Given the description of an element on the screen output the (x, y) to click on. 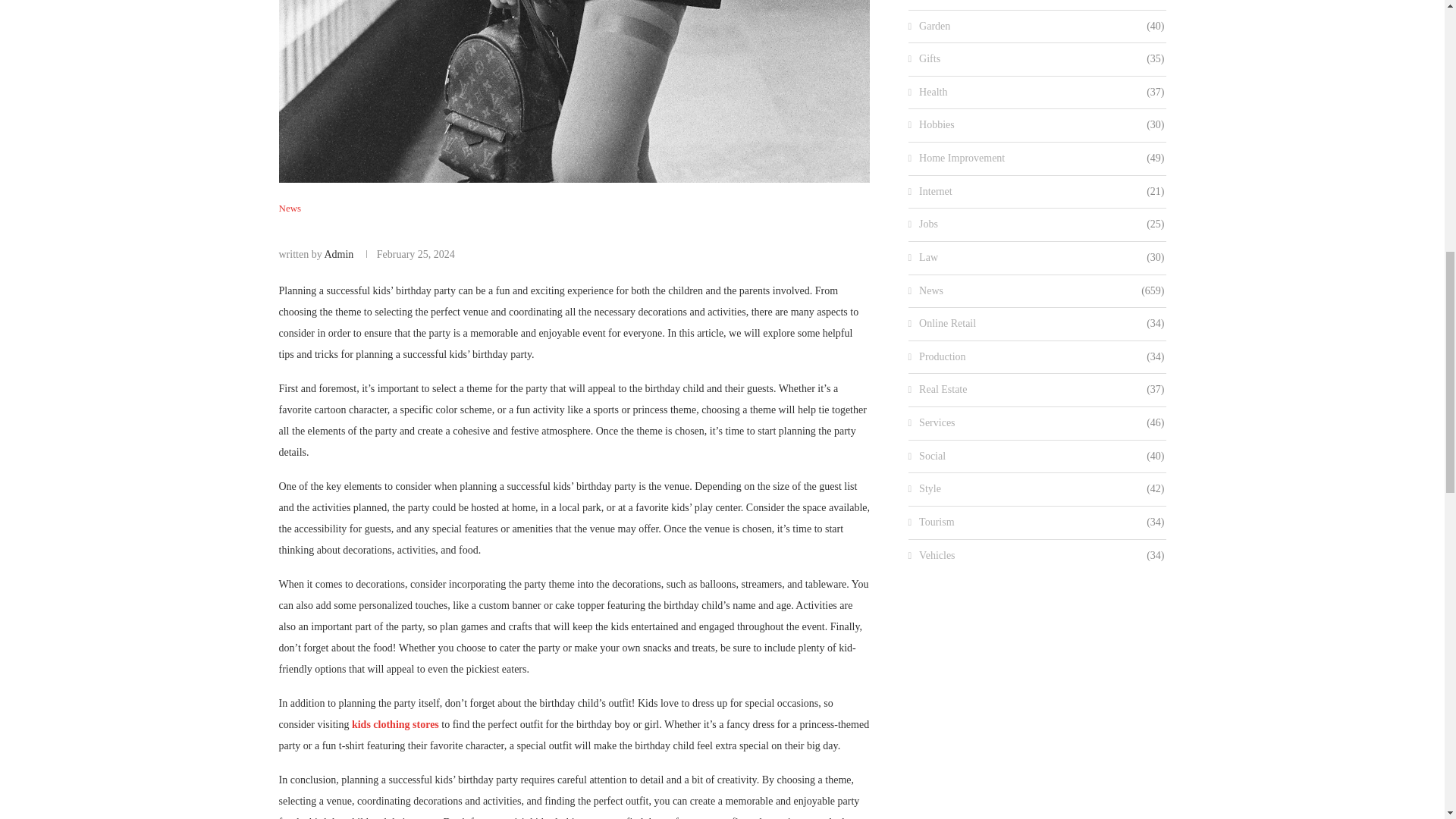
How-to-plan-a-successful-kids-birthday-party (574, 91)
